Given the description of an element on the screen output the (x, y) to click on. 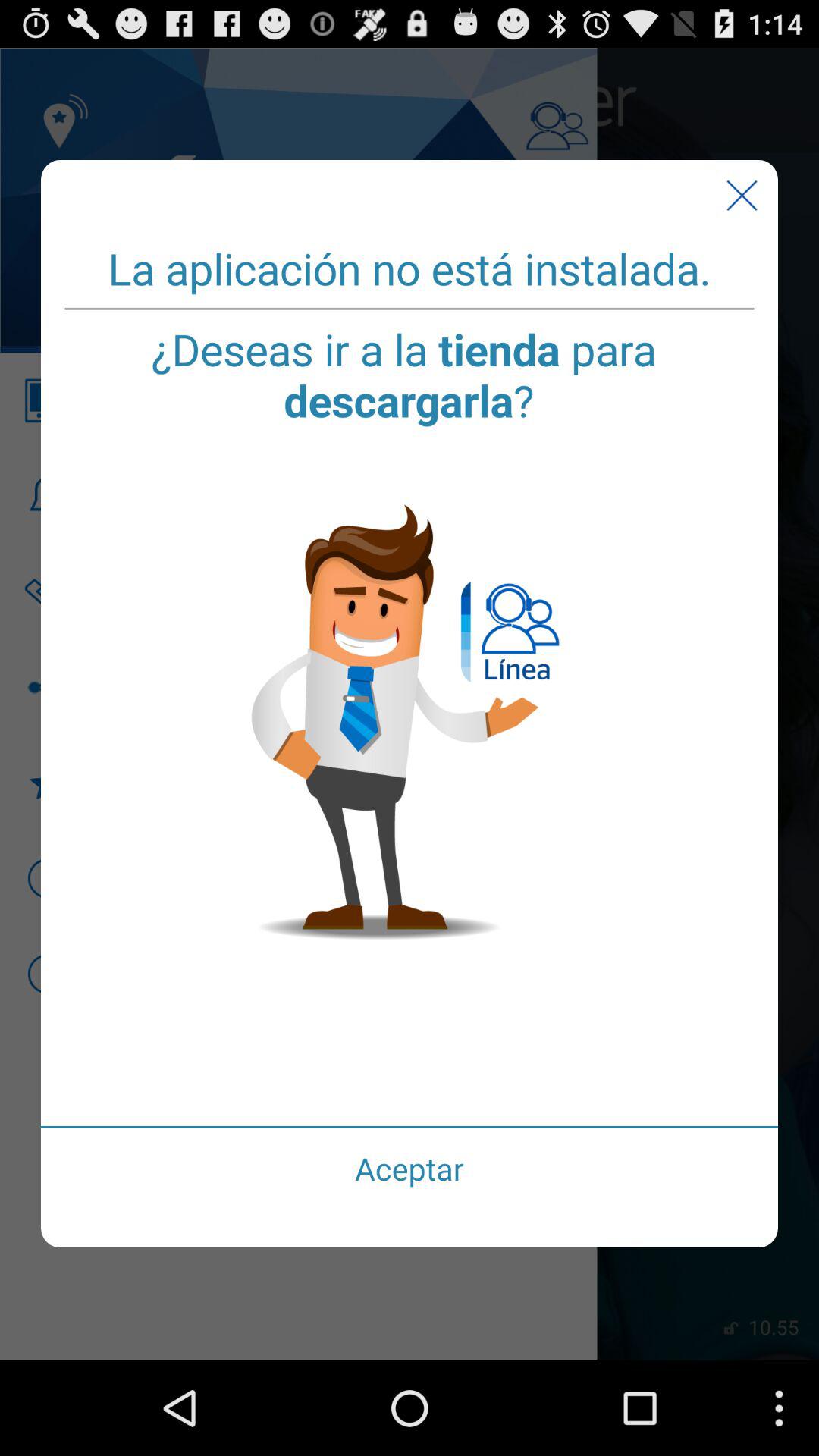
close out (742, 195)
